Given the description of an element on the screen output the (x, y) to click on. 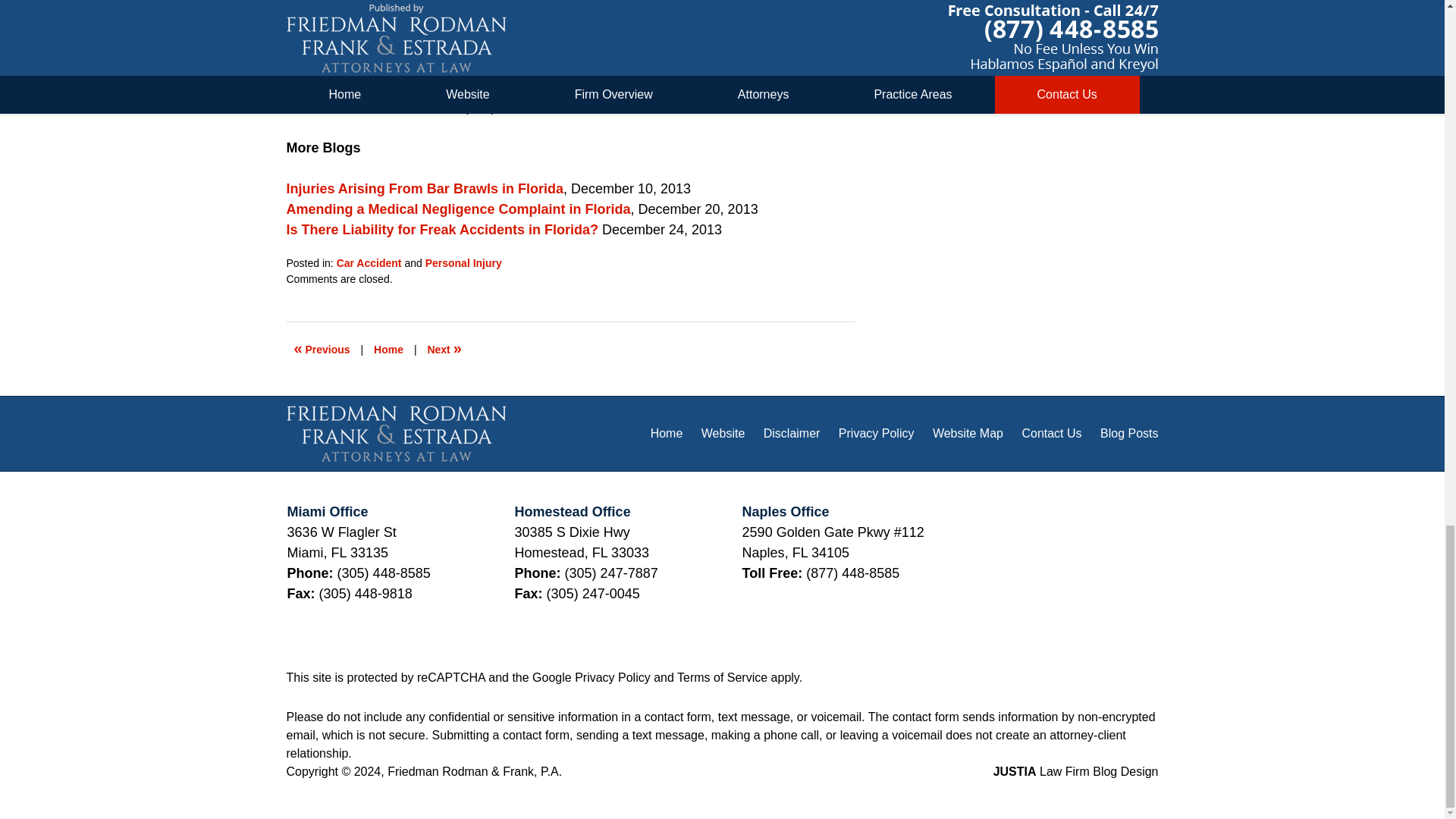
View all posts in Car Accident (368, 263)
View all posts in Personal Injury (463, 263)
Car Accident (368, 263)
Evidence of Drug Use in Florida Wrongful Death Cases (322, 349)
Home (388, 349)
Florida automobile accident attorneys (504, 86)
Personal Injury (463, 263)
Is There Liability for Freak Accidents in Florida? (442, 229)
Wrongful Birth Lawsuits in Florida (443, 349)
Amending a Medical Negligence Complaint in Florida (458, 209)
